Given the description of an element on the screen output the (x, y) to click on. 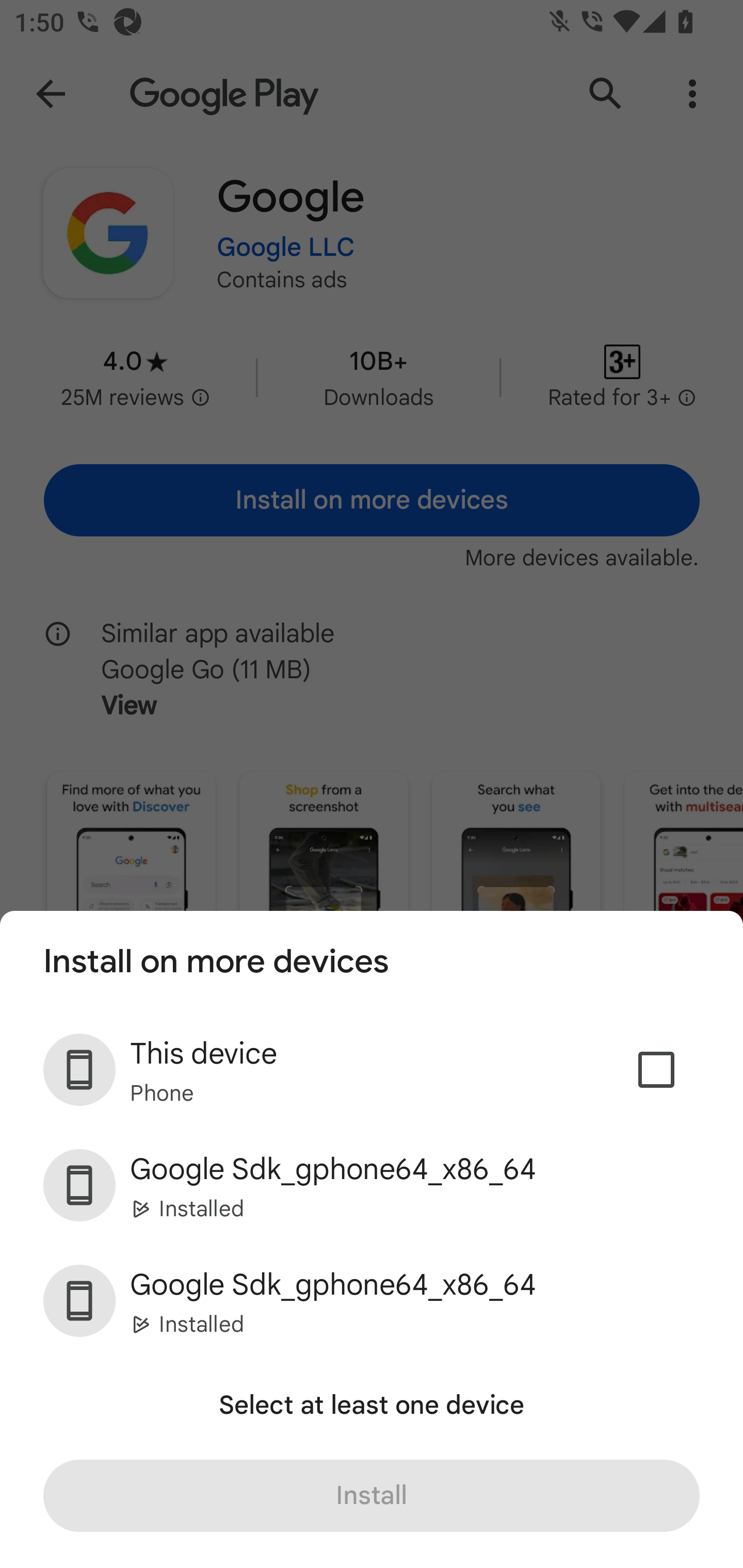
This device Phone (371, 1070)
Install (371, 1495)
